Given the description of an element on the screen output the (x, y) to click on. 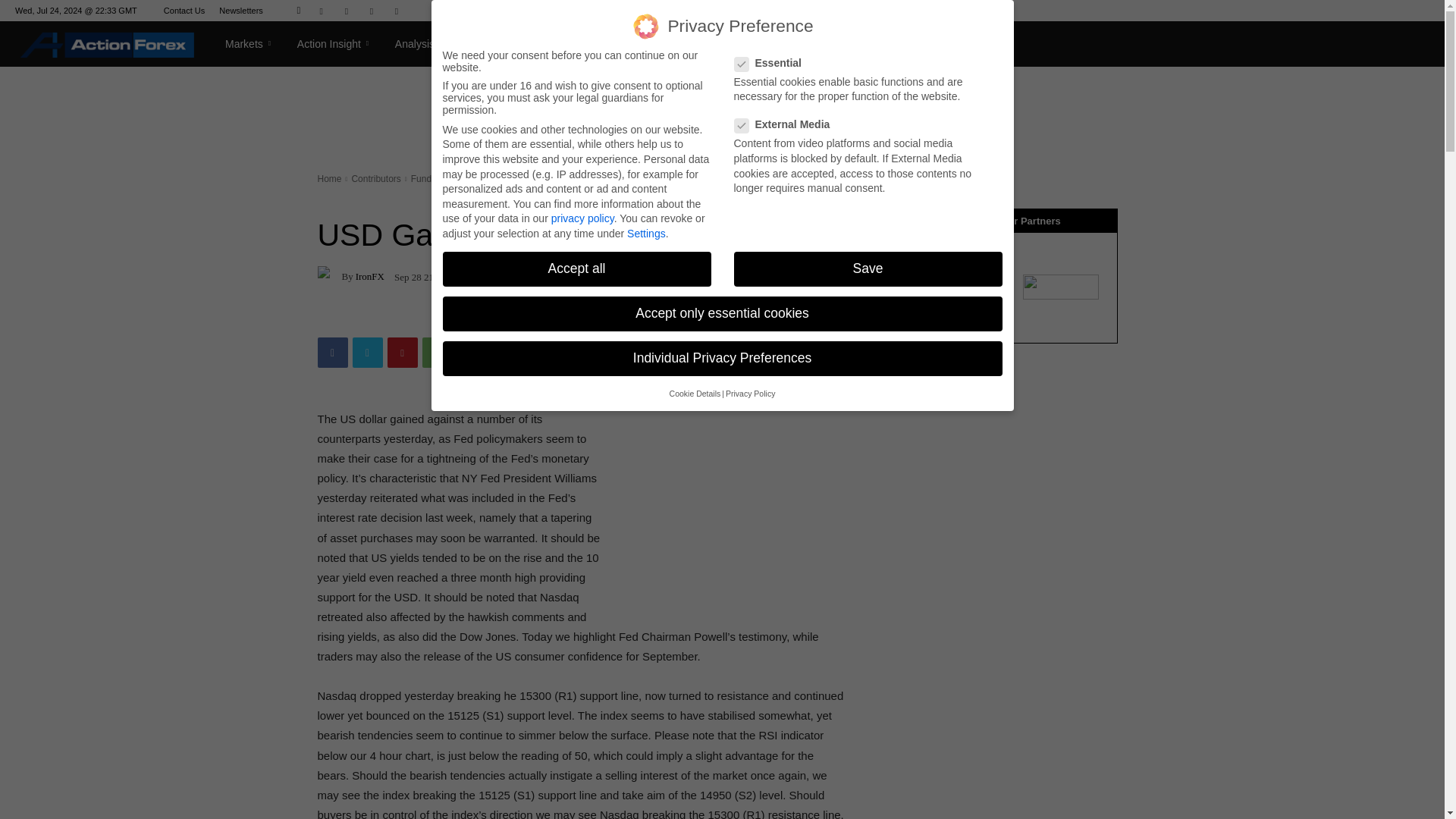
RSS (370, 10)
Facebook (321, 10)
Mail (346, 10)
Action Forex (106, 44)
Twitter (396, 10)
